Given the description of an element on the screen output the (x, y) to click on. 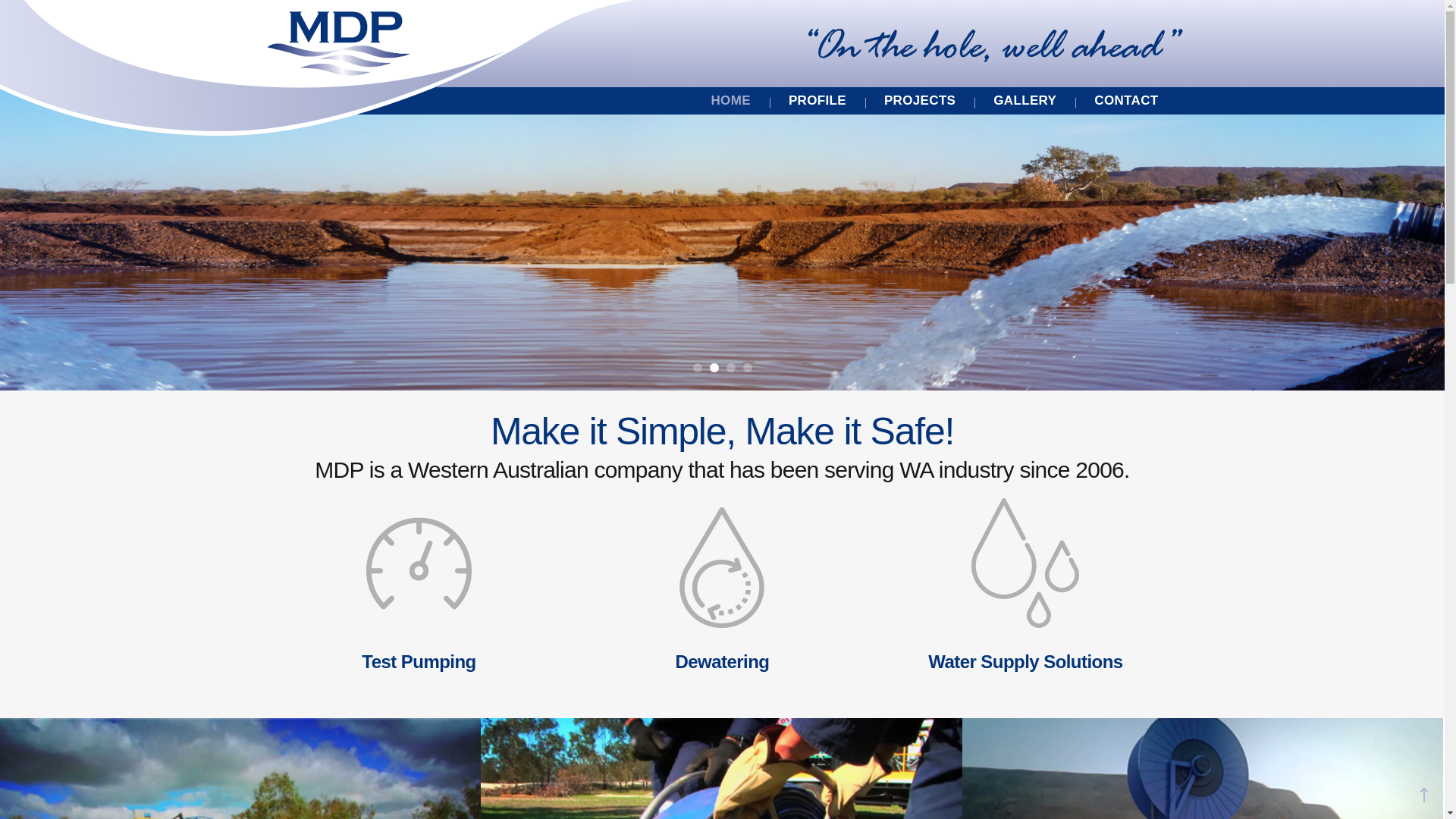
1 Element type: text (697, 367)
HOME Element type: text (730, 100)
GALLERY Element type: text (1024, 100)
CONTACT Element type: text (1125, 100)
3 Element type: text (730, 367)
McArthur Drilling & Pumping Element type: hover (337, 43)
PROJECTS Element type: text (919, 100)
4 Element type: text (747, 367)
2 Element type: text (713, 367)
PROFILE Element type: text (817, 100)
